Given the description of an element on the screen output the (x, y) to click on. 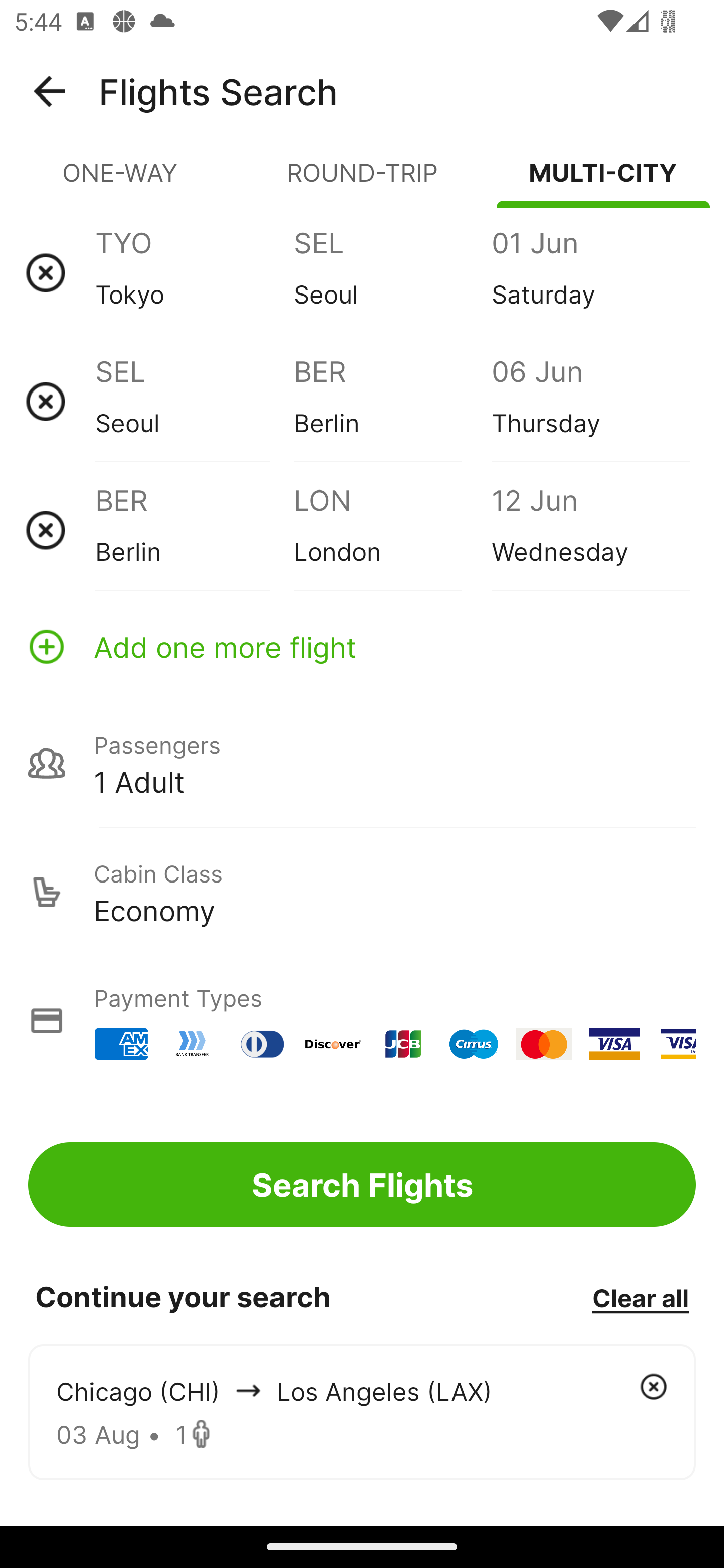
ONE-WAY (120, 180)
ROUND-TRIP (361, 180)
MULTI-CITY (603, 180)
TYO Tokyo (193, 272)
SEL Seoul (392, 272)
01 Jun Saturday (590, 272)
SEL Seoul (193, 401)
BER Berlin (392, 401)
06 Jun Thursday (590, 401)
BER Berlin (193, 529)
LON London (392, 529)
12 Jun Wednesday (590, 529)
Add one more flight (362, 646)
Passengers 1 Adult (362, 762)
Cabin Class Economy (362, 891)
Payment Types (362, 1020)
Search Flights (361, 1184)
Clear all (640, 1297)
